Given the description of an element on the screen output the (x, y) to click on. 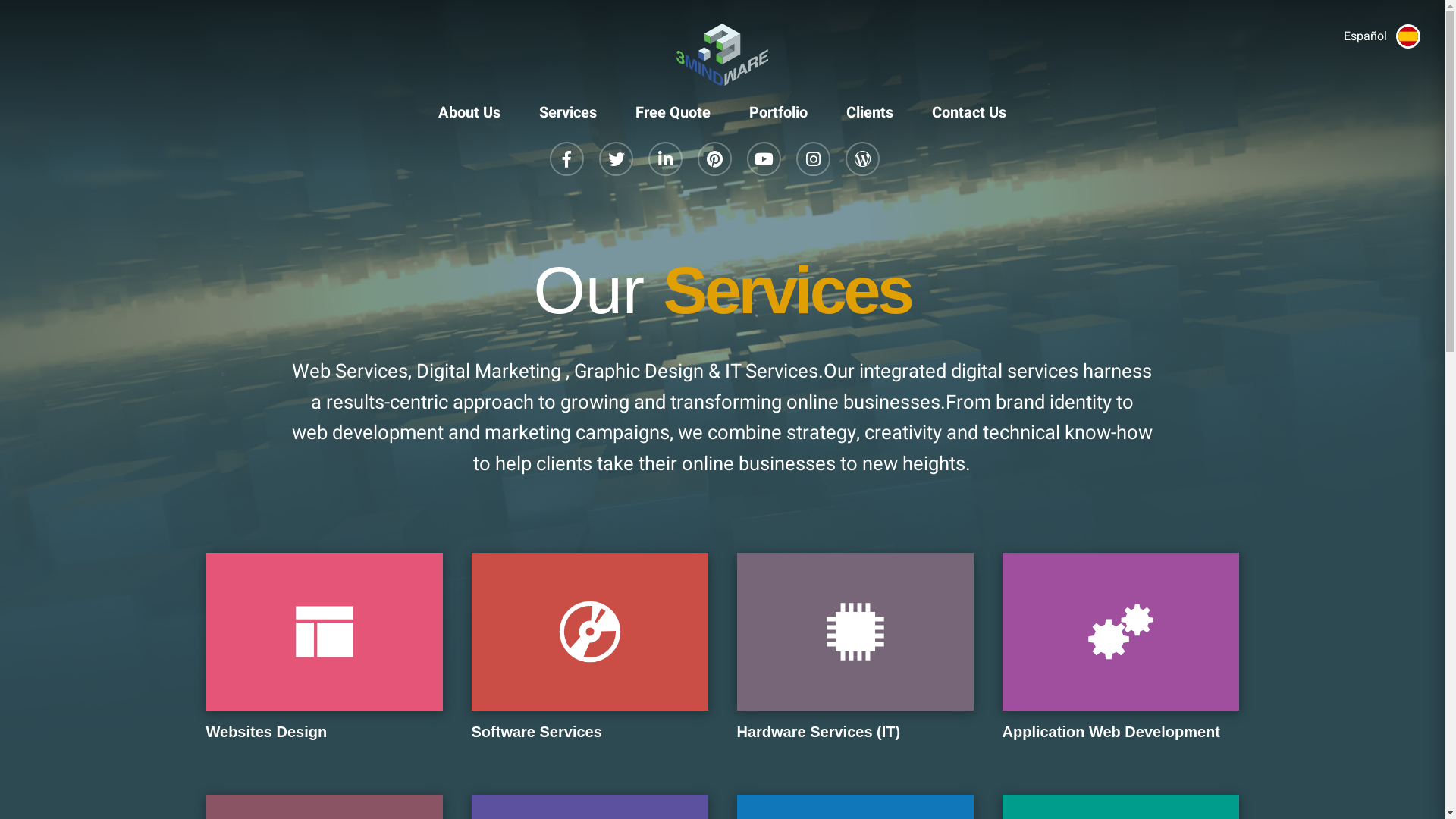
Free Quote Element type: text (672, 105)
Software Services Element type: text (589, 658)
Application Web Development Element type: text (1120, 658)
Portfolio Element type: text (778, 105)
Clients Element type: text (869, 105)
Services Element type: text (567, 105)
About Us Element type: text (469, 105)
Websites Design Element type: text (324, 658)
Hardware Services (IT) Element type: text (855, 658)
Contact Us Element type: text (968, 105)
